Given the description of an element on the screen output the (x, y) to click on. 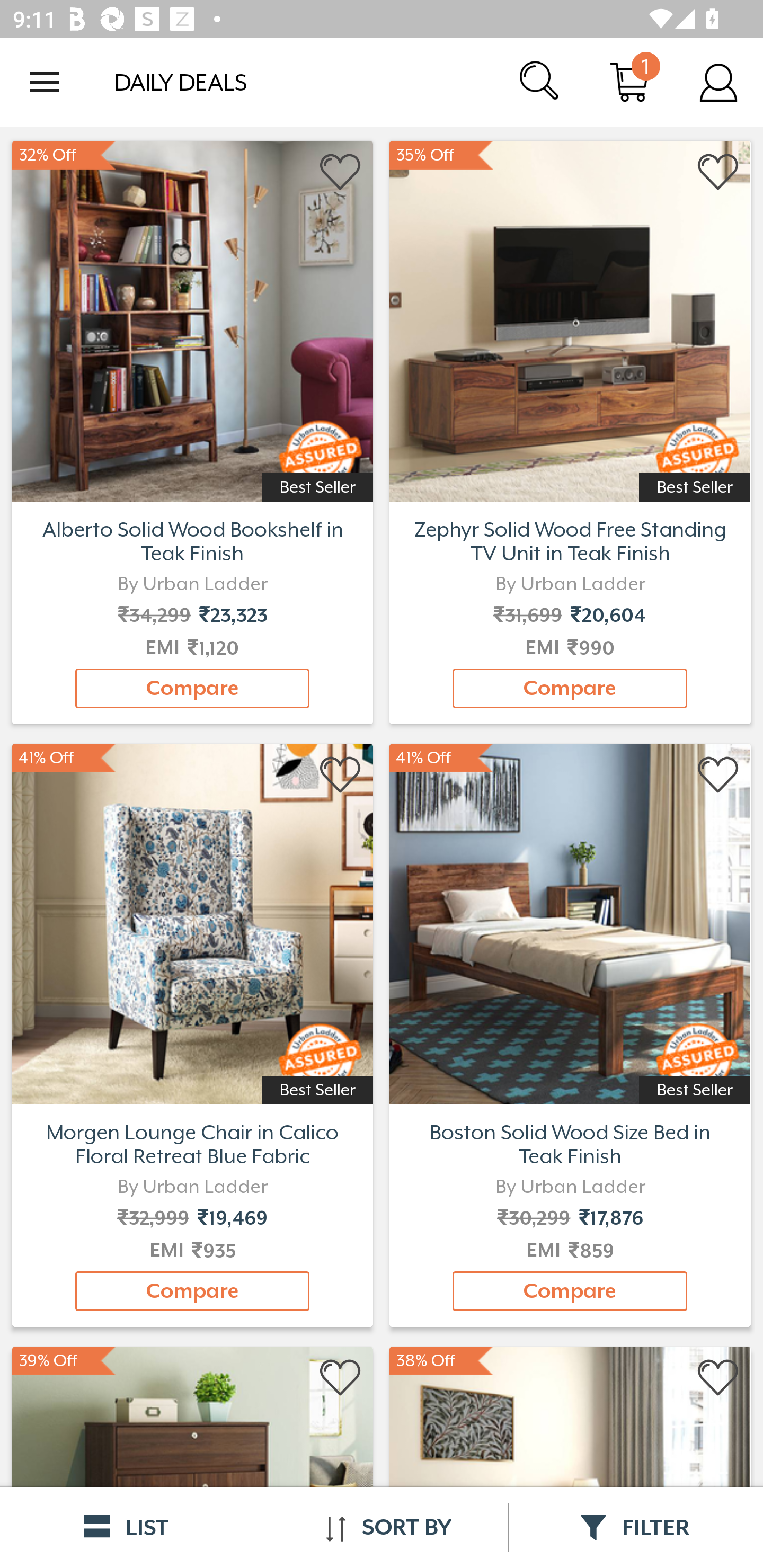
Open navigation drawer (44, 82)
Search (540, 81)
Cart (629, 81)
Account Details (718, 81)
 (341, 172)
 (718, 172)
Compare (192, 687)
Compare (569, 687)
 (341, 775)
 (718, 775)
Compare (192, 1290)
Compare (569, 1290)
 (341, 1377)
 (718, 1377)
 LIST (127, 1527)
SORT BY (381, 1527)
 FILTER (635, 1527)
